Given the description of an element on the screen output the (x, y) to click on. 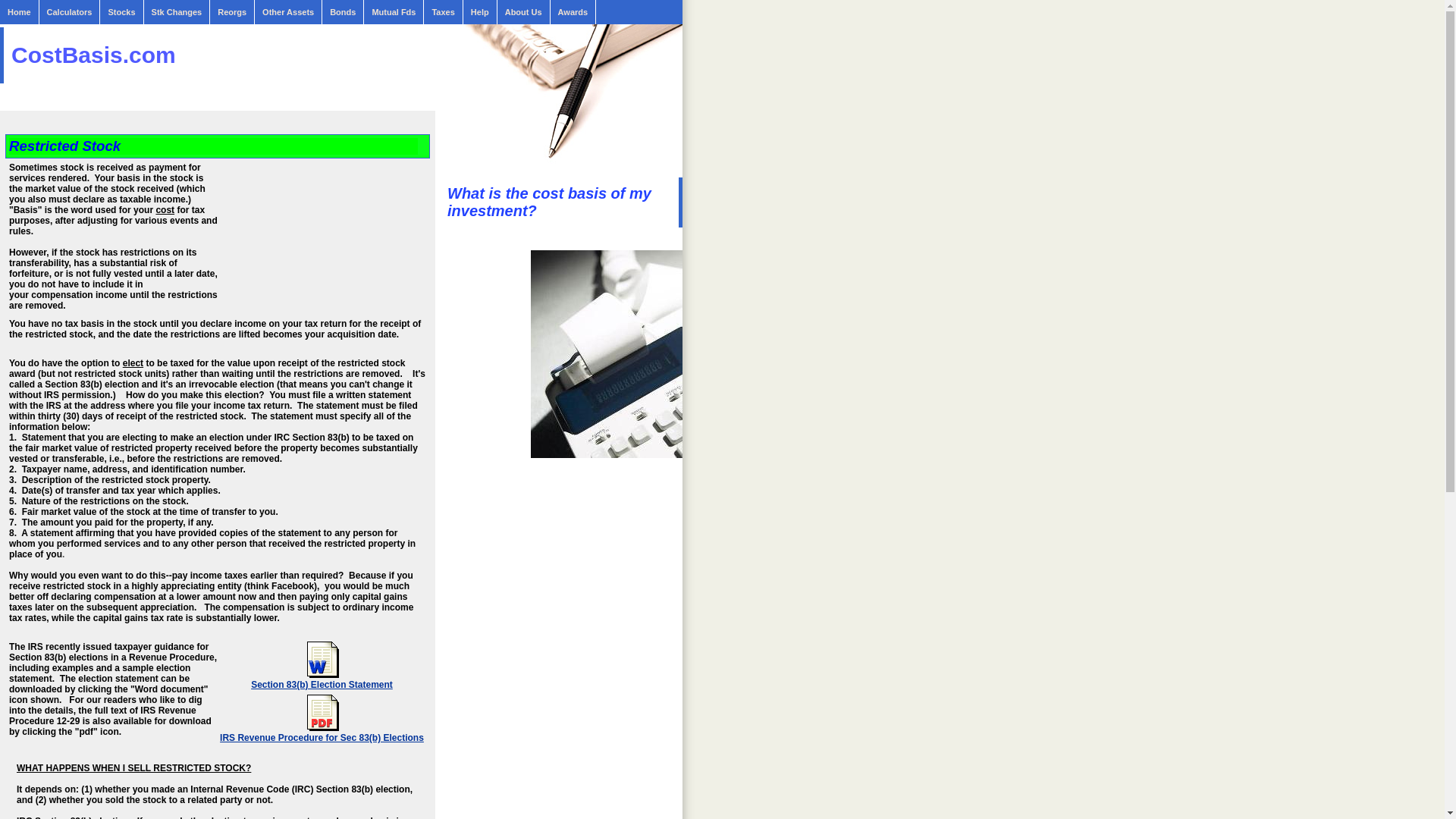
Stocks (121, 12)
Calculators (69, 12)
Home (19, 12)
Stk Changes (177, 12)
